Given the description of an element on the screen output the (x, y) to click on. 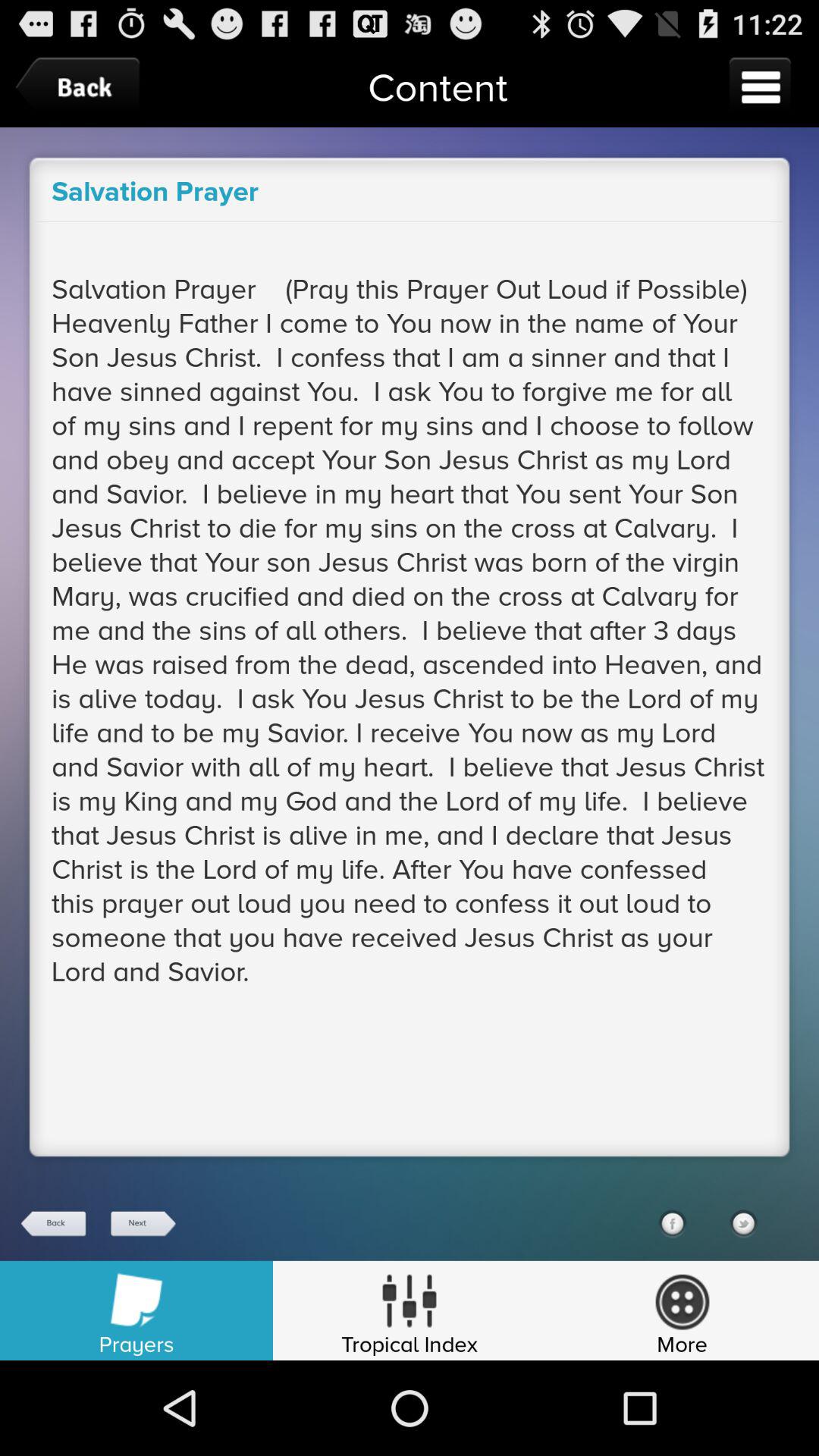
open the item next to content app (760, 87)
